Given the description of an element on the screen output the (x, y) to click on. 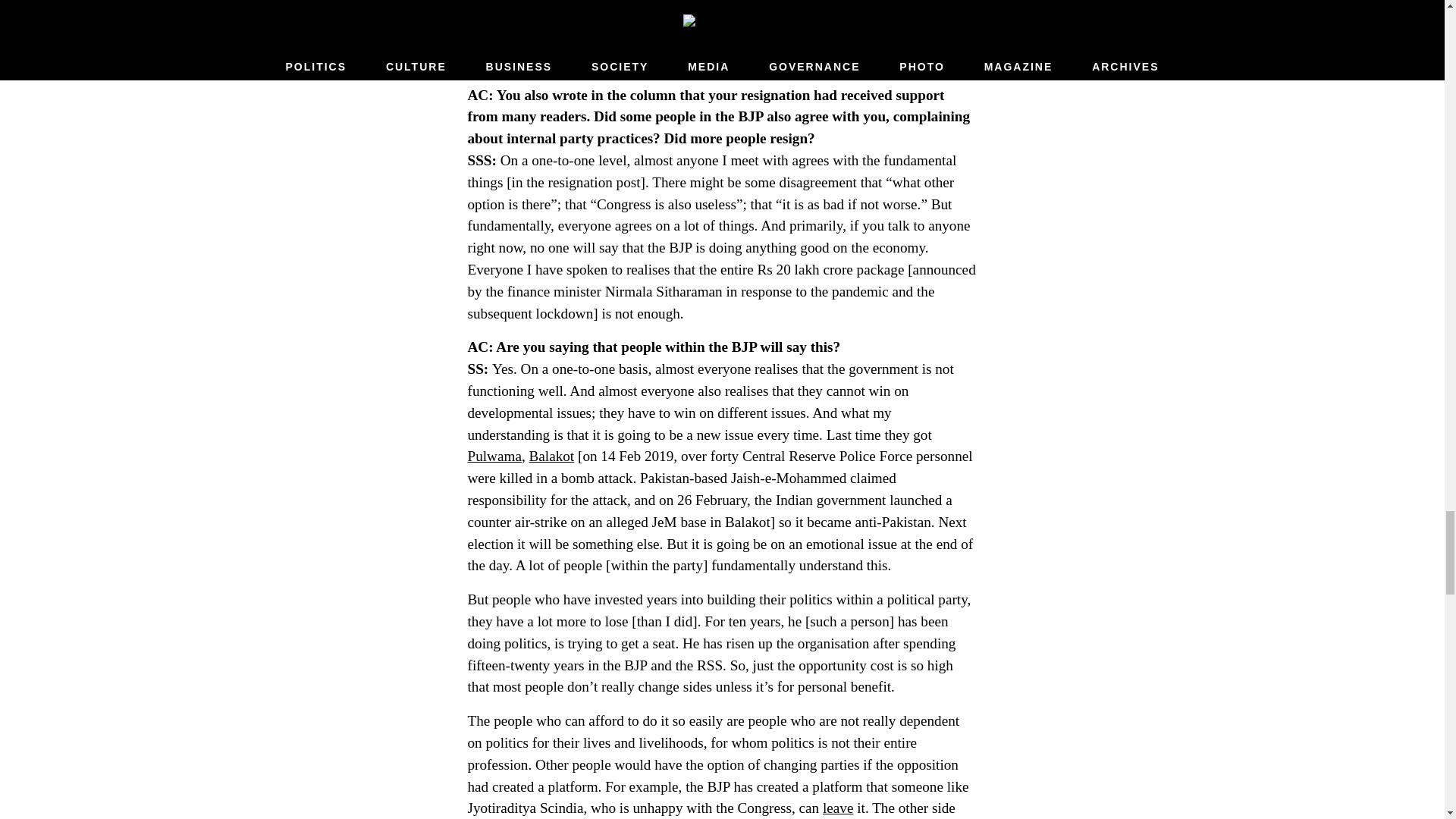
Balakot (552, 455)
leave (837, 807)
Pulwama (494, 455)
